Given the description of an element on the screen output the (x, y) to click on. 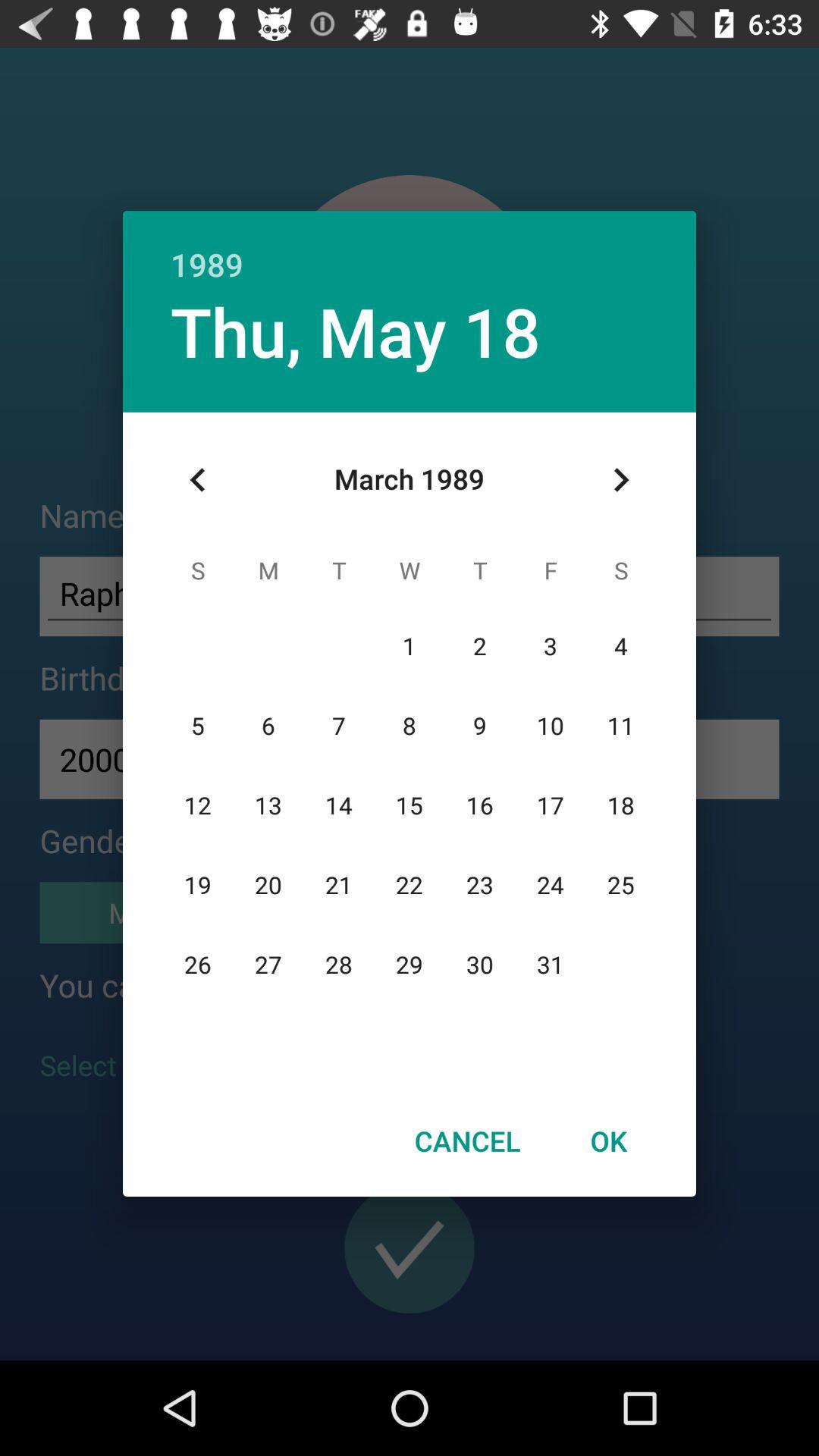
tap the ok item (608, 1140)
